Given the description of an element on the screen output the (x, y) to click on. 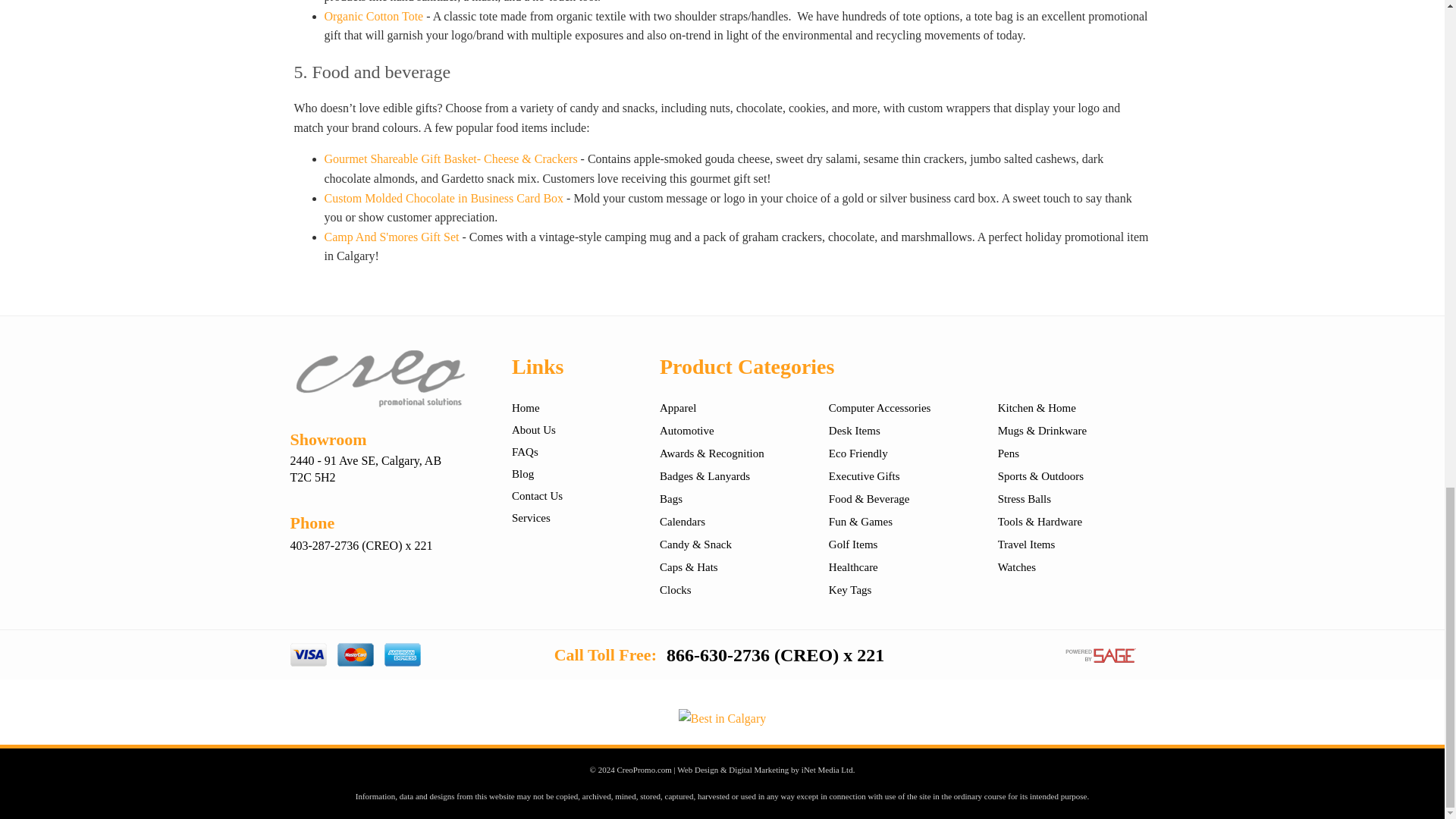
Home (526, 408)
Custom Molded Chocolate in Business Card Box (444, 197)
Blog (523, 473)
Organic Cotton Tote (373, 15)
About Us (534, 429)
Camp And S'mores Gift Set (392, 236)
Contact Us (537, 495)
FAQs (525, 451)
